Given the description of an element on the screen output the (x, y) to click on. 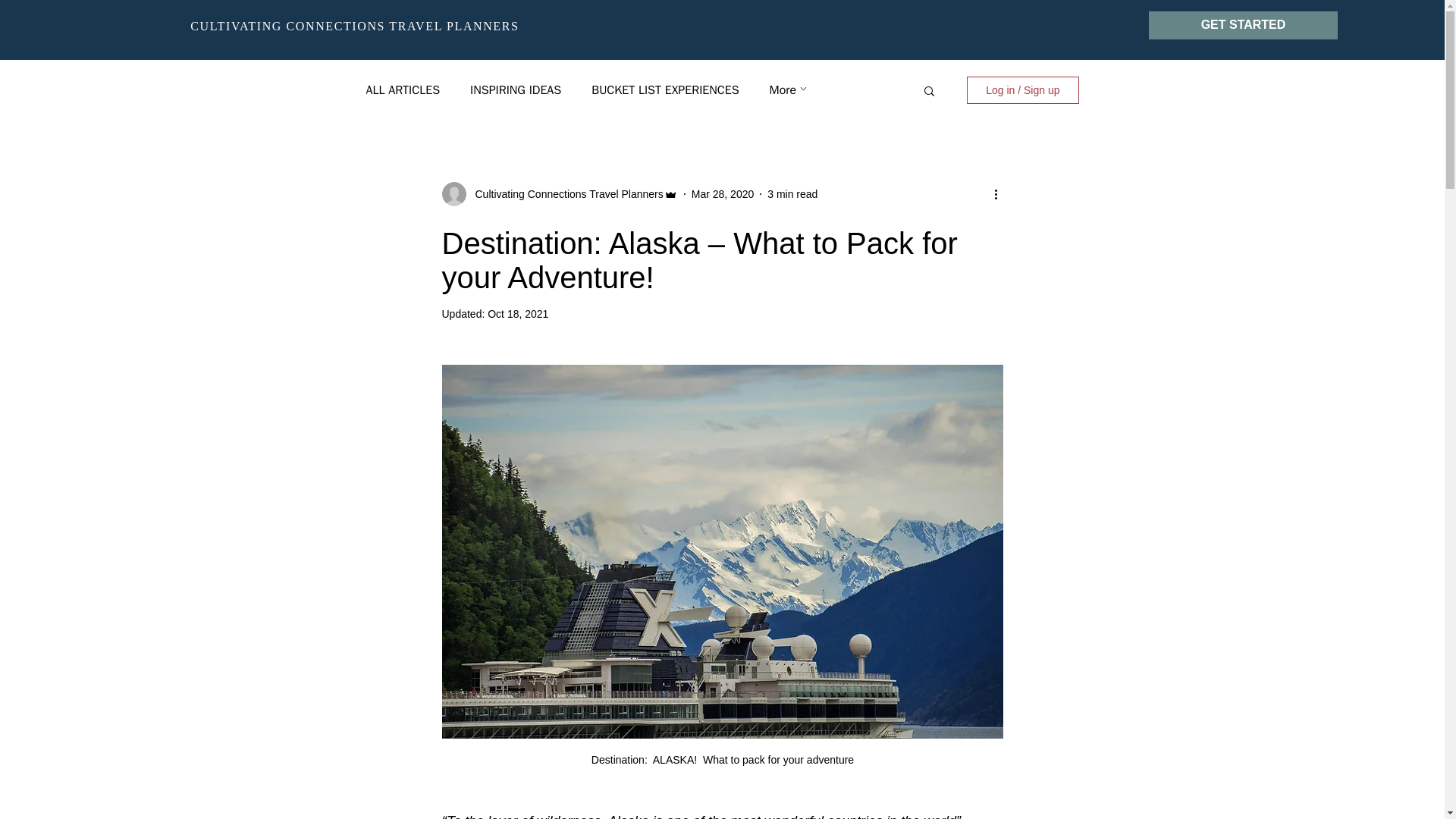
INSPIRING IDEAS (515, 89)
CULTIVATING CONNECTIONS TRAVEL PLANNERS (354, 25)
GET STARTED (1243, 25)
Mar 28, 2020 (722, 193)
ALL ARTICLES (402, 89)
Cultivating Connections Travel Planners (563, 194)
Oct 18, 2021 (517, 313)
BUCKET LIST EXPERIENCES (664, 89)
3 min read (791, 193)
